Given the description of an element on the screen output the (x, y) to click on. 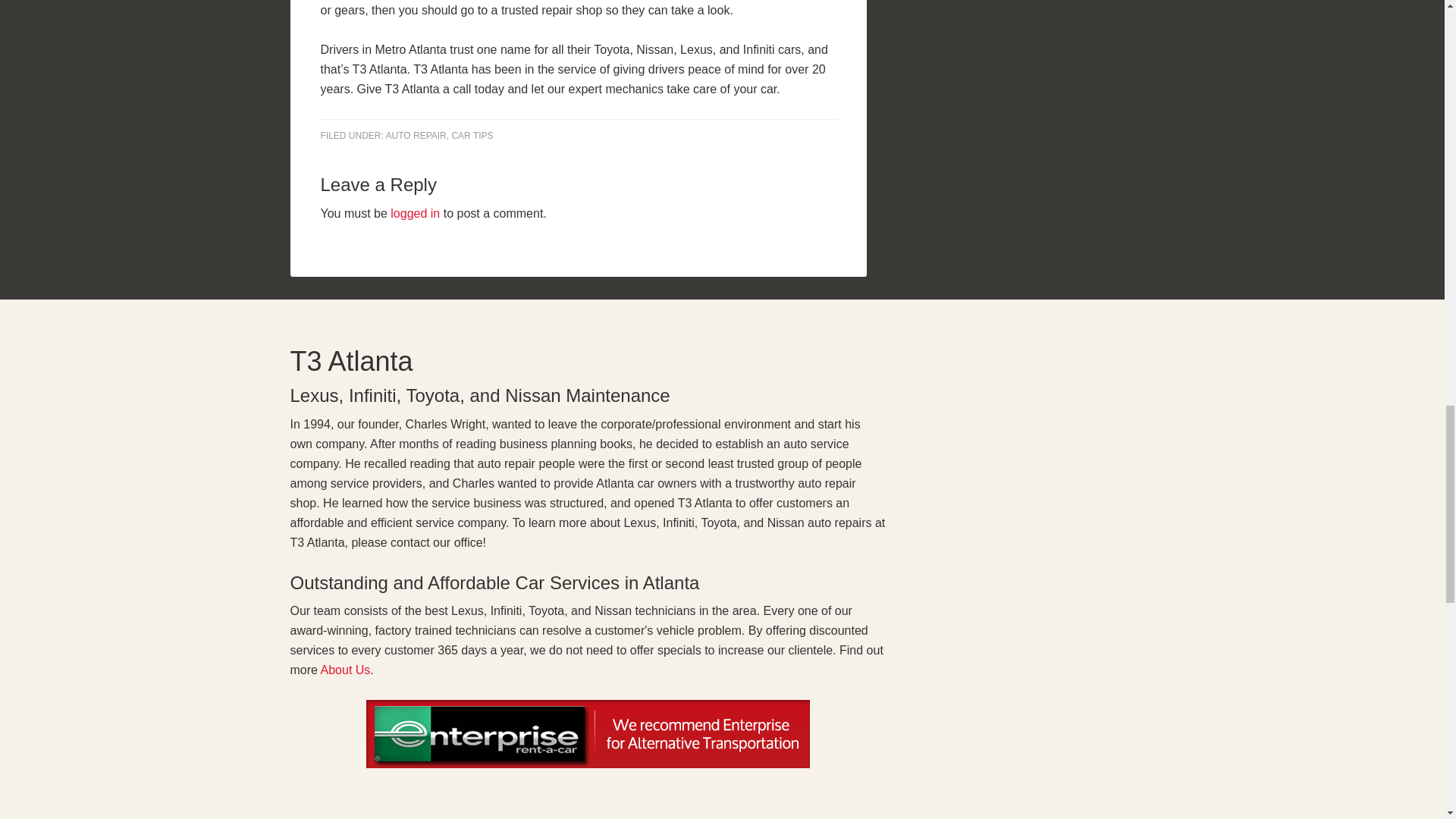
About Us (345, 669)
logged in (414, 213)
CAR TIPS (472, 135)
AUTO REPAIR (415, 135)
